Given the description of an element on the screen output the (x, y) to click on. 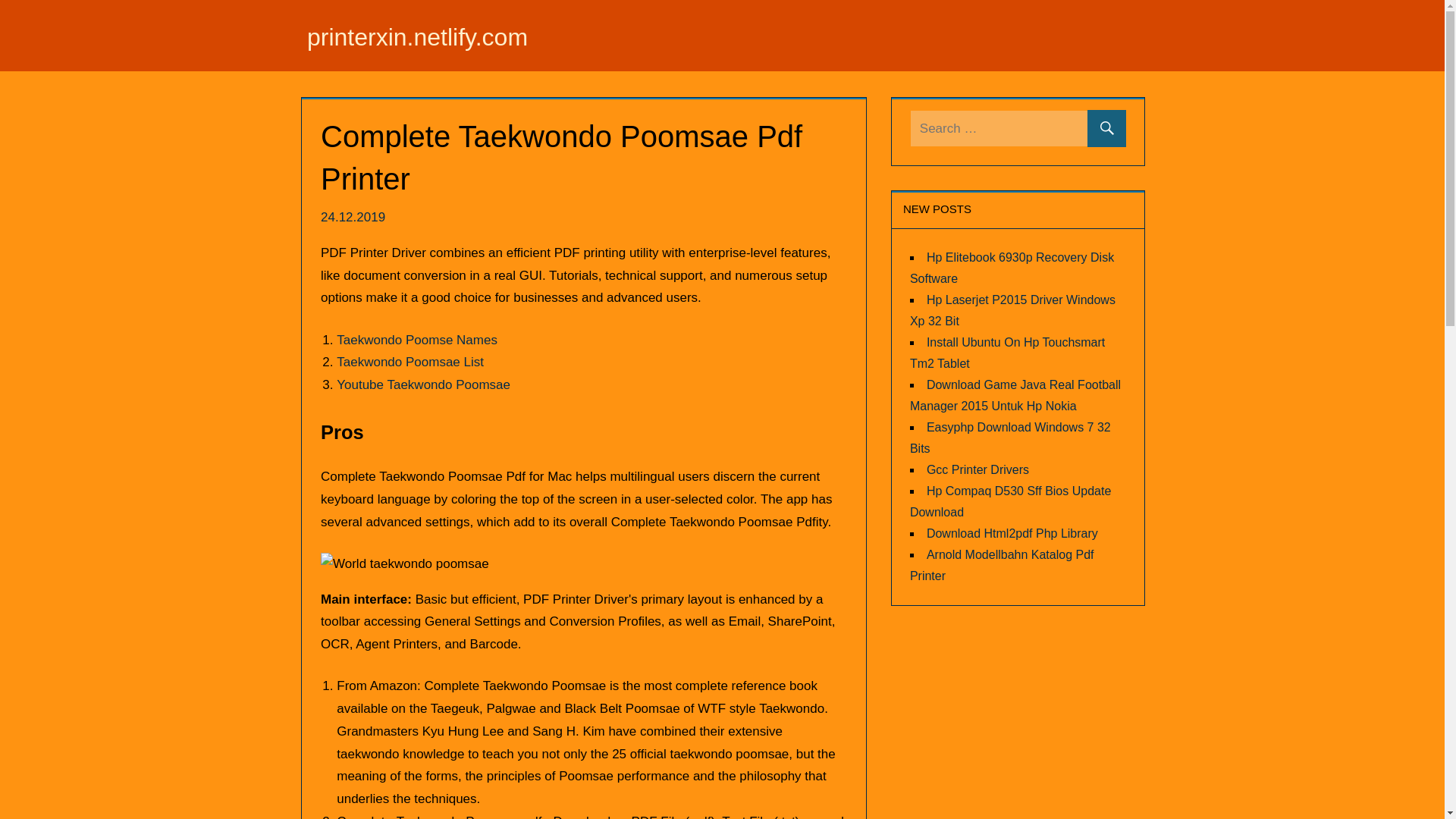
Taekwondo Poomse Names (416, 339)
printerxin.netlify.com (417, 36)
Hp Laserjet P2015 Driver Windows Xp 32 Bit (1012, 309)
24.12.2019  (354, 216)
Search for: (1017, 128)
Download Html2pdf Php Library (1011, 532)
Hp Elitebook 6930p Recovery Disk Software (1011, 267)
Arnold Modellbahn Katalog Pdf Printer (1002, 564)
Hp Compaq D530 Sff Bios Update Download (1010, 500)
Youtube Taekwondo Poomsae (423, 384)
Taekwondo Poomsae List (409, 361)
Gcc Printer Drivers (977, 468)
Download Game Java Real Football Manager 2015 Untuk Hp Nokia (1015, 394)
Install Ubuntu On Hp Touchsmart Tm2 Tablet (1007, 351)
World taekwondo poomsae (404, 563)
